Given the description of an element on the screen output the (x, y) to click on. 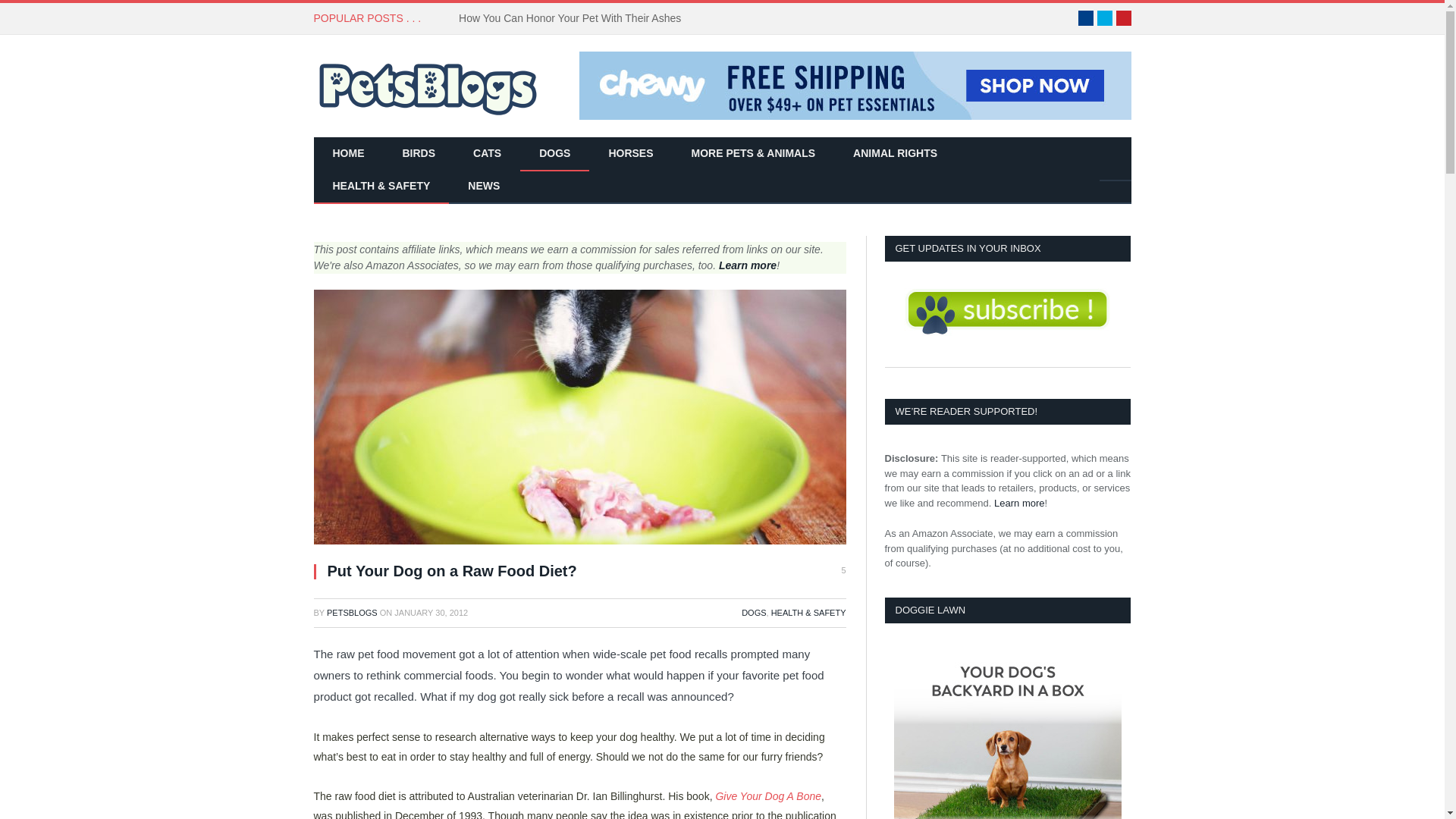
Search (1115, 179)
BIRDS (419, 154)
DOGS (554, 154)
PetsBlogs (427, 85)
DOGS (753, 612)
Facebook (1085, 17)
HOME (349, 154)
Give Your Dog A Bone (767, 796)
How You Can Honor Your Pet With Their Ashes (573, 18)
NEWS (483, 186)
Twitter (1104, 17)
PETSBLOGS (351, 612)
ANIMAL RIGHTS (895, 154)
Twitter (1104, 17)
